Given the description of an element on the screen output the (x, y) to click on. 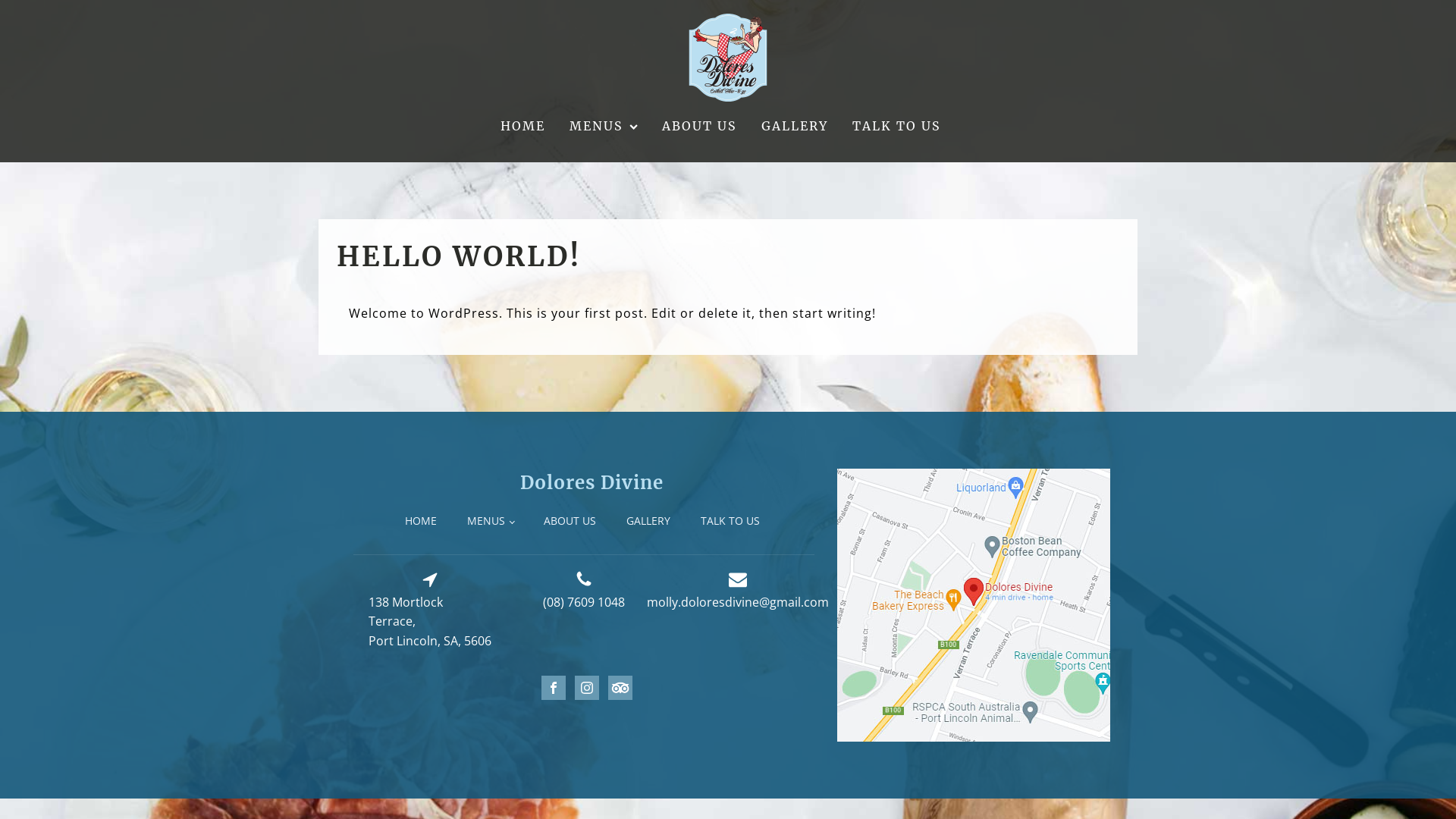
GALLERY Element type: text (648, 520)
MENUS Element type: text (490, 520)
TALK TO US Element type: text (896, 126)
TALK TO US Element type: text (730, 520)
HOME Element type: text (420, 520)
ABOUT US Element type: text (699, 126)
ABOUT US Element type: text (569, 520)
GALLERY Element type: text (794, 126)
HOME Element type: text (522, 126)
molly.doloresdivine@gmail.com Element type: text (737, 602)
MENUS Element type: text (603, 126)
